Given the description of an element on the screen output the (x, y) to click on. 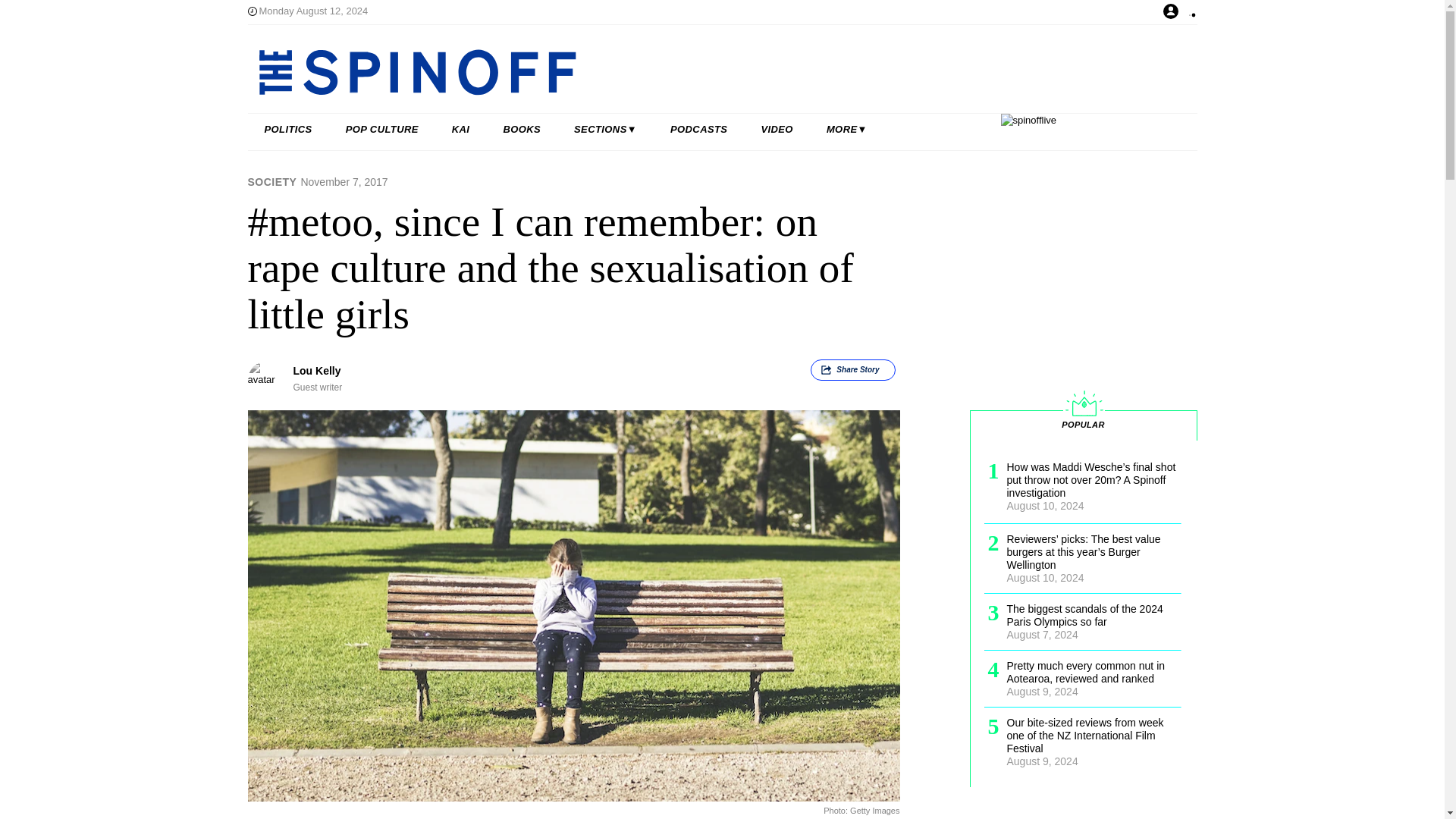
The Spinoff (673, 72)
view all posts by Lou Kelly (316, 370)
KAI (460, 129)
BOOKS (521, 129)
POLITICS (288, 129)
PODCASTS (698, 129)
SECTIONS (605, 129)
POP CULTURE (382, 129)
MORE (846, 129)
VIDEO (776, 129)
